Given the description of an element on the screen output the (x, y) to click on. 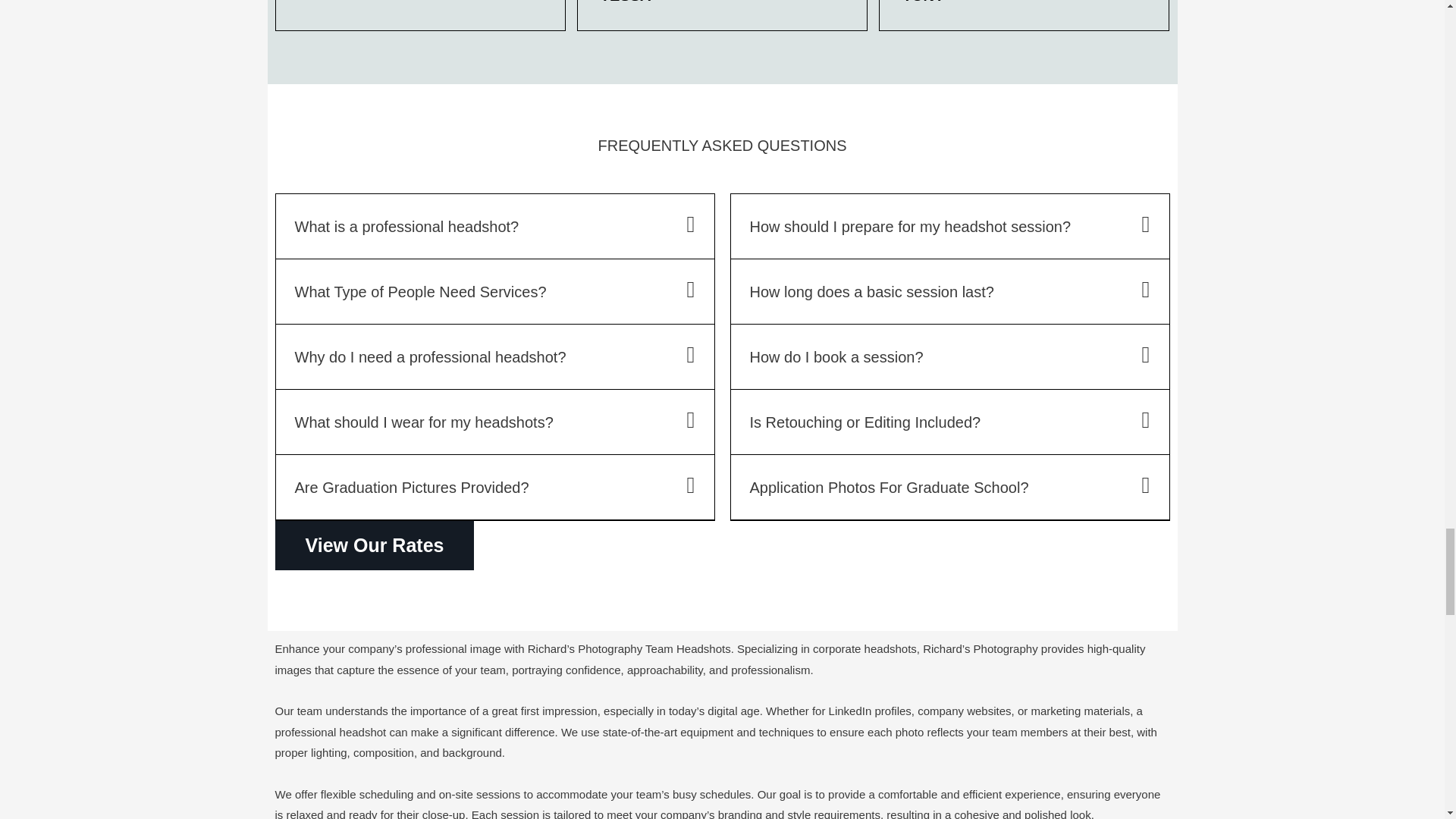
Are Graduation Pictures Provided? (411, 487)
What is a professional headshot? (406, 226)
What should I wear for my headshots? (423, 422)
What Type of People Need Services? (420, 291)
Why do I need a professional headshot? (430, 356)
